Given the description of an element on the screen output the (x, y) to click on. 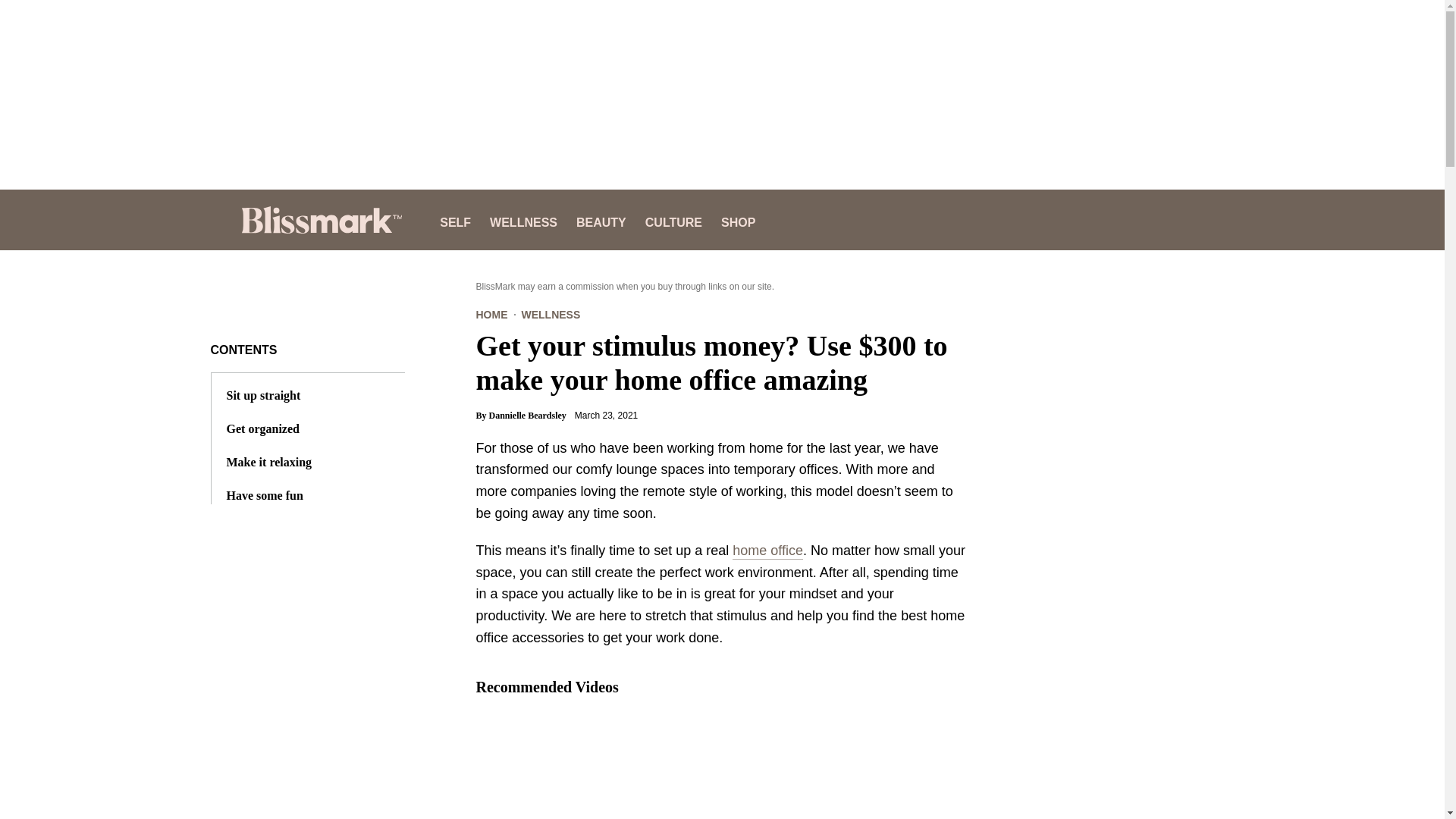
CULTURE (673, 219)
Dannielle Beardsley (529, 415)
HOME (492, 314)
Sit up straight (262, 395)
WELLNESS (523, 219)
Get organized (261, 428)
Have some fun (263, 495)
home office (767, 550)
Make it relaxing (268, 462)
WELLNESS (550, 314)
